Given the description of an element on the screen output the (x, y) to click on. 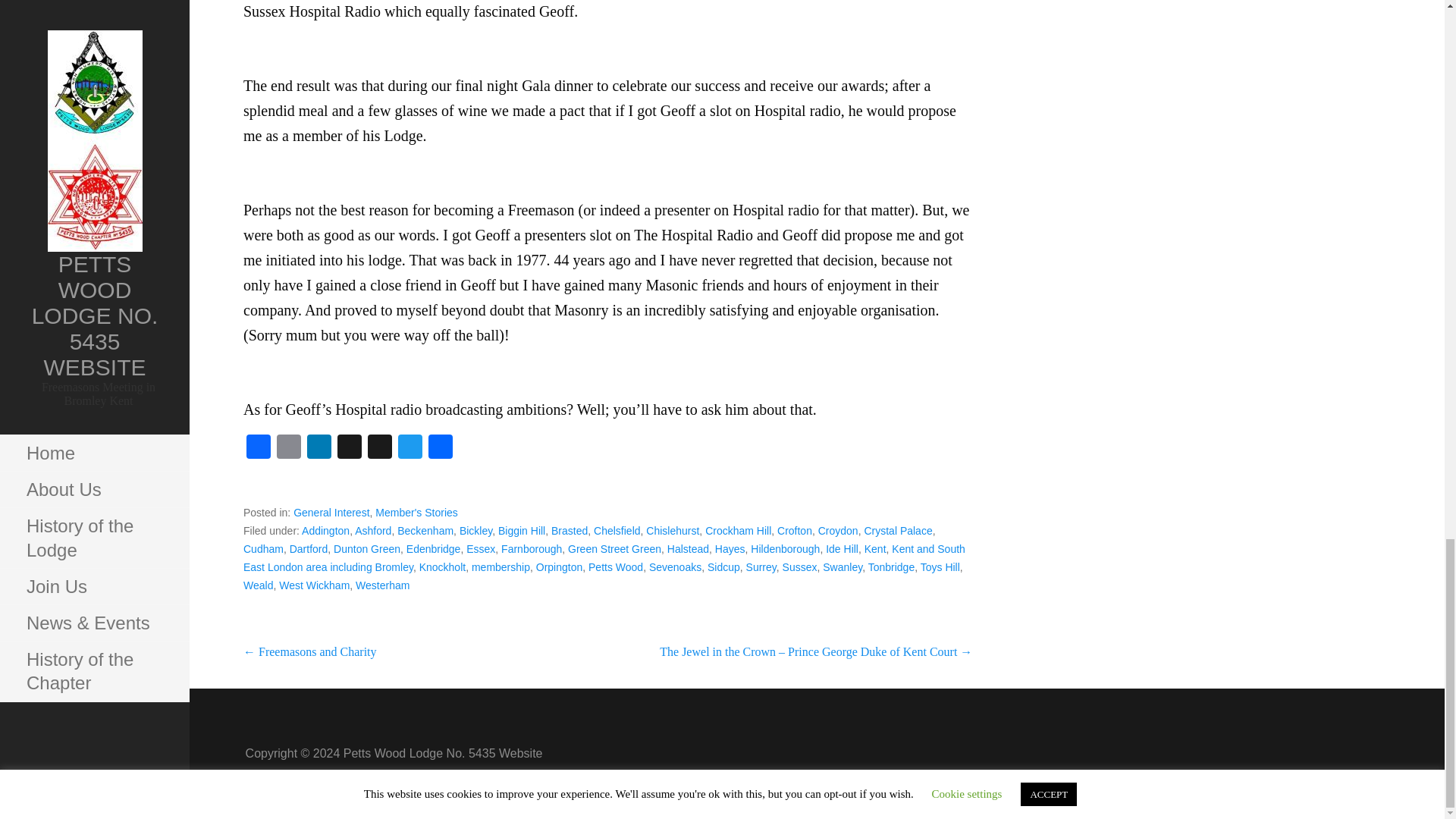
LinkedIn (319, 448)
Crockham Hill (737, 530)
Ashford (373, 530)
Member's Stories (416, 512)
Email (288, 448)
Twitter (409, 448)
X (379, 448)
Cudham (263, 548)
Addington (325, 530)
Dunton Green (366, 548)
Twitter (409, 448)
General Interest (331, 512)
Threads (349, 448)
Essex (480, 548)
Halstead (687, 548)
